Given the description of an element on the screen output the (x, y) to click on. 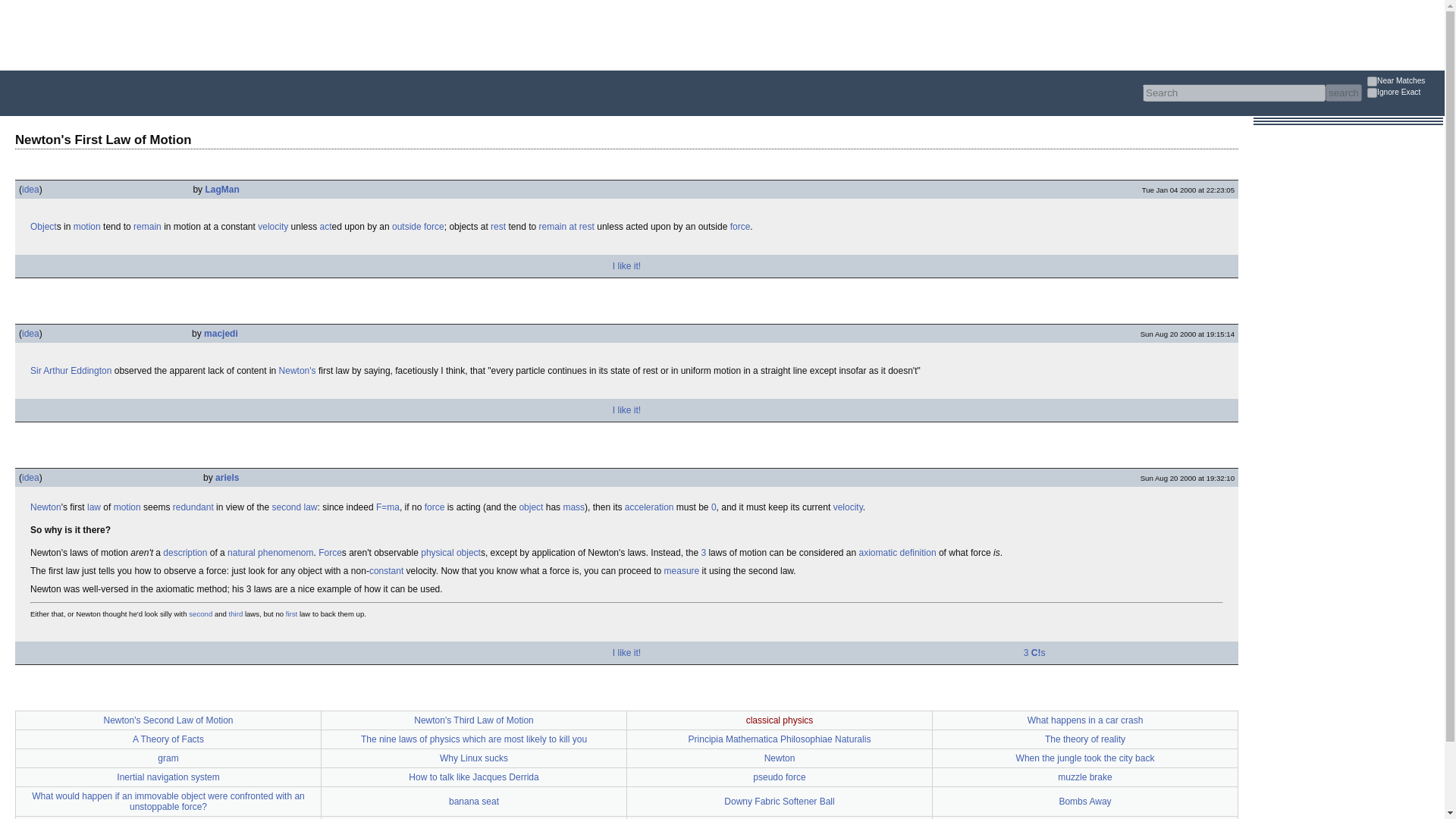
velocity (272, 226)
motion (127, 507)
at rest (581, 226)
Jan 04 2000 at 22:23:05 (1187, 189)
at rest (581, 226)
idea (30, 189)
remain (552, 226)
search (1342, 92)
Everything (242, 117)
StumbleUpon (87, 265)
